Given the description of an element on the screen output the (x, y) to click on. 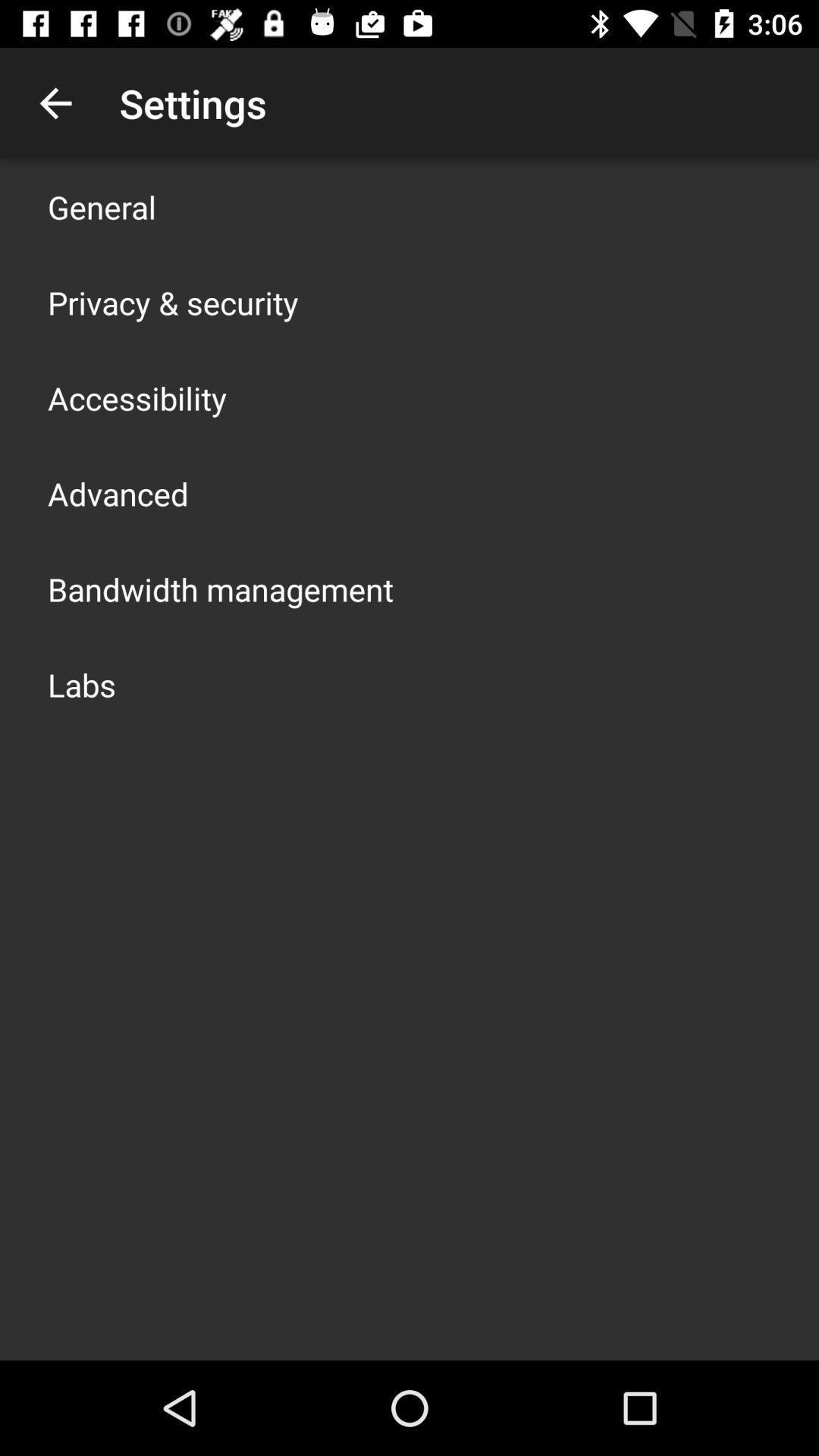
click item above labs app (220, 588)
